Given the description of an element on the screen output the (x, y) to click on. 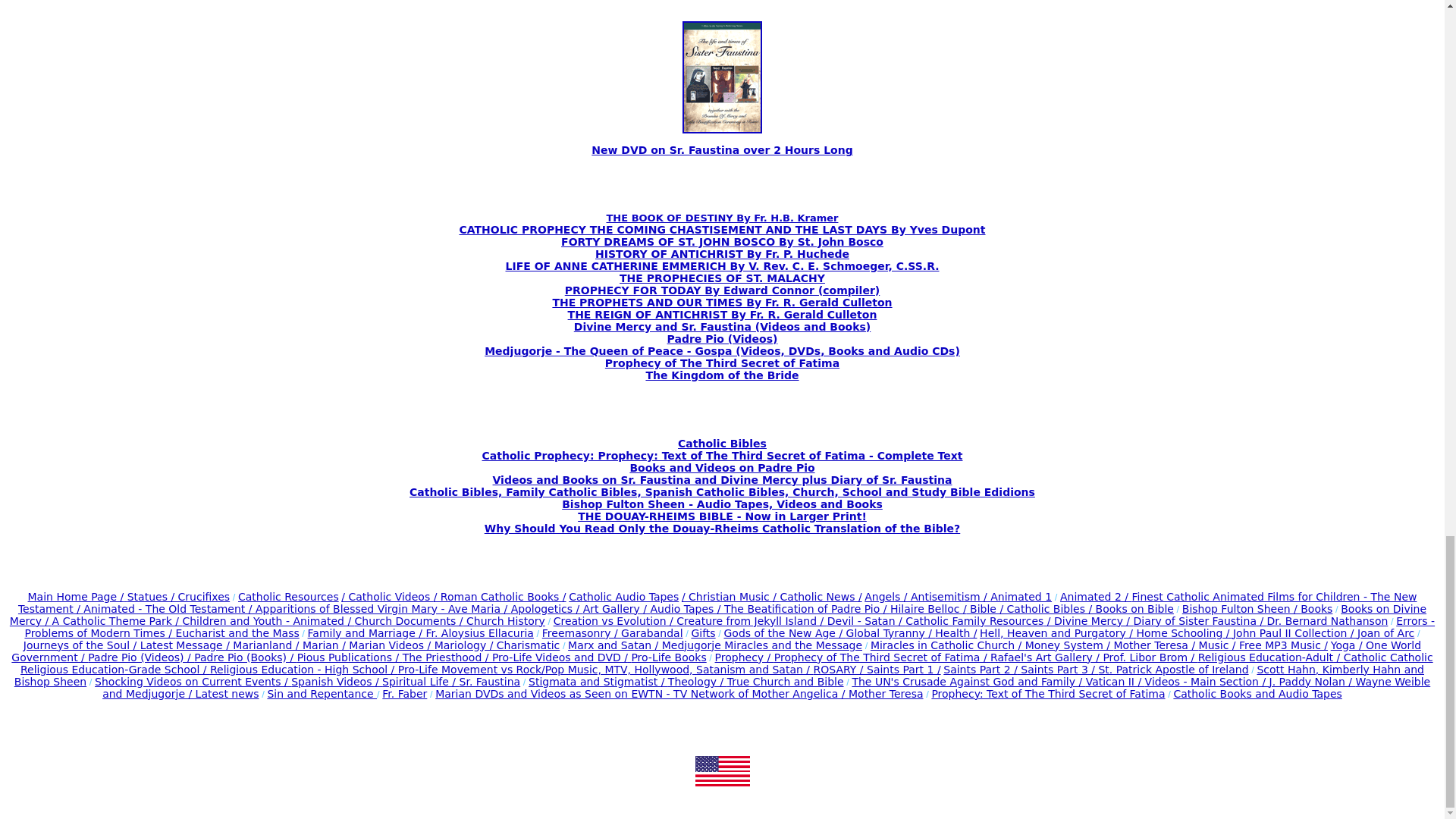
New DVD on Sr. Faustina over 2 Hours Long (721, 150)
FORTY DREAMS OF ST. JOHN BOSCO By St. John Bosco (721, 241)
THE BOOK OF DESTINY By Fr. H.B. Kramer (722, 217)
